Given the description of an element on the screen output the (x, y) to click on. 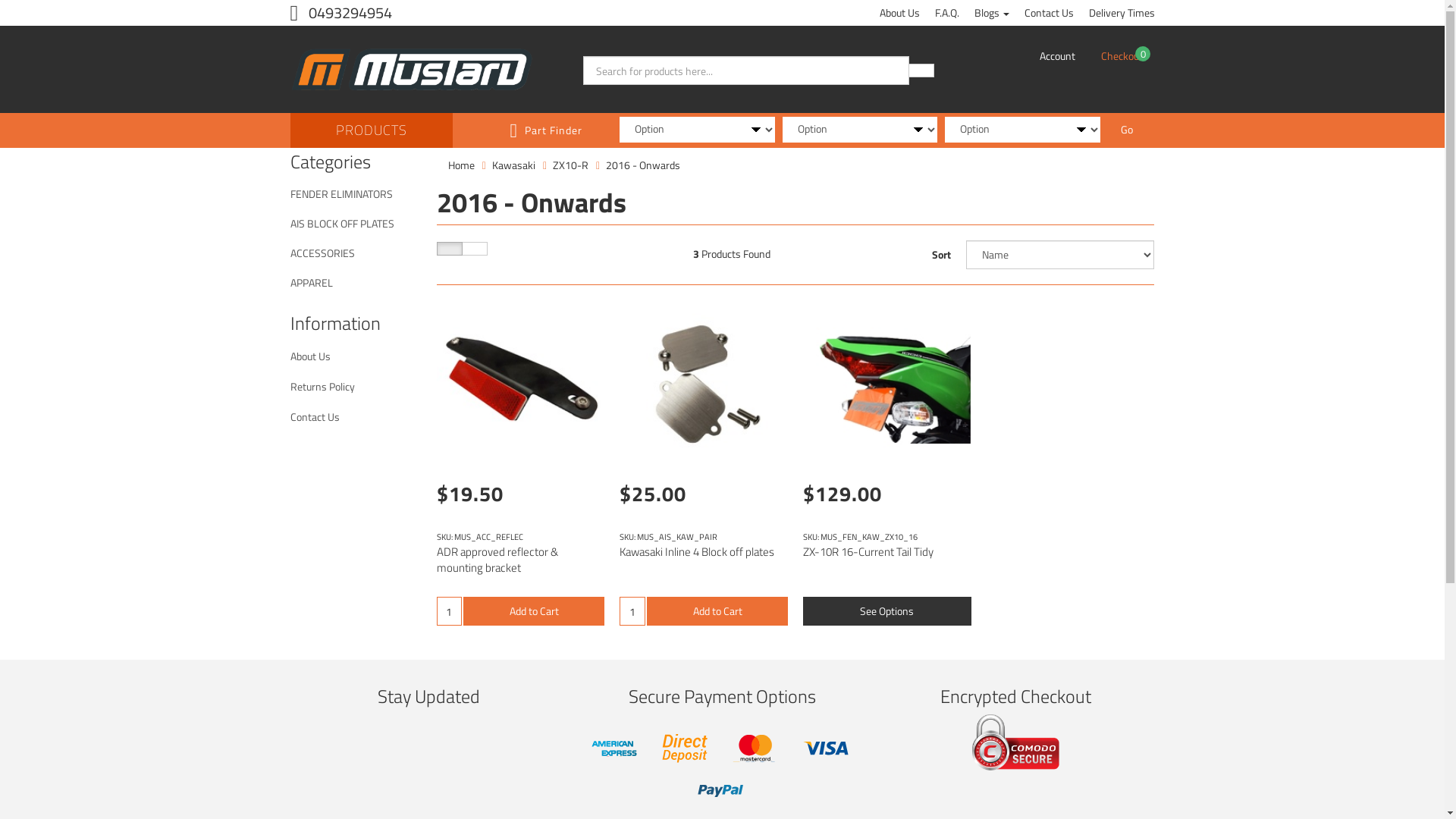
Go Element type: text (1126, 129)
Home Element type: text (461, 164)
Account Element type: text (1057, 55)
Search Element type: text (921, 70)
Contact Us Element type: text (1048, 12)
F.A.Q. Element type: text (946, 12)
Blogs Element type: text (990, 12)
Delivery Times Element type: text (1121, 12)
ADR approved reflector & mounting bracket Element type: text (497, 559)
0
Checkout Element type: text (1121, 55)
Add to Cart Element type: text (533, 610)
2016 - Onwards Element type: text (642, 164)
AIS BLOCK OFF PLATES Element type: text (354, 223)
Returns Policy Element type: text (354, 386)
0493294954 Element type: text (340, 12)
Kawasaki Inline 4 Block off plates Element type: text (696, 551)
See Options Element type: text (887, 610)
Add to Cart Element type: text (716, 610)
ZX-10R 16-Current Tail Tidy Element type: text (868, 551)
PRODUCTS Element type: text (370, 129)
Contact Us Element type: text (354, 416)
FENDER ELIMINATORS Element type: text (354, 193)
About Us Element type: text (899, 12)
About Us Element type: text (354, 356)
Kawasaki Element type: text (513, 164)
ACCESSORIES Element type: text (354, 253)
APPAREL Element type: text (354, 282)
ZX10-R Element type: text (570, 164)
